Given the description of an element on the screen output the (x, y) to click on. 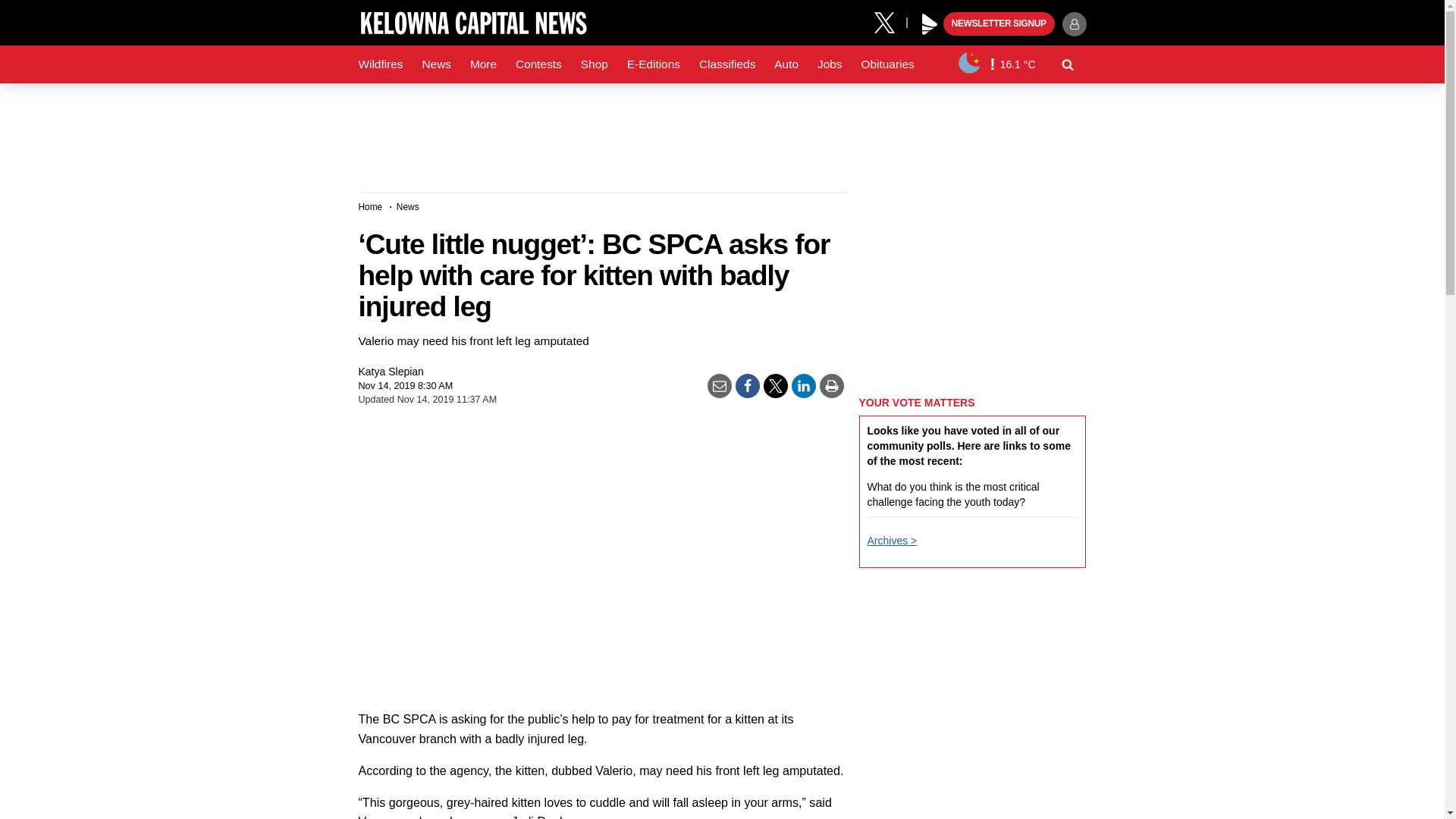
NEWSLETTER SIGNUP (998, 24)
X (889, 21)
Black Press Media (929, 24)
Wildfires (380, 64)
Play (929, 24)
News (435, 64)
